Given the description of an element on the screen output the (x, y) to click on. 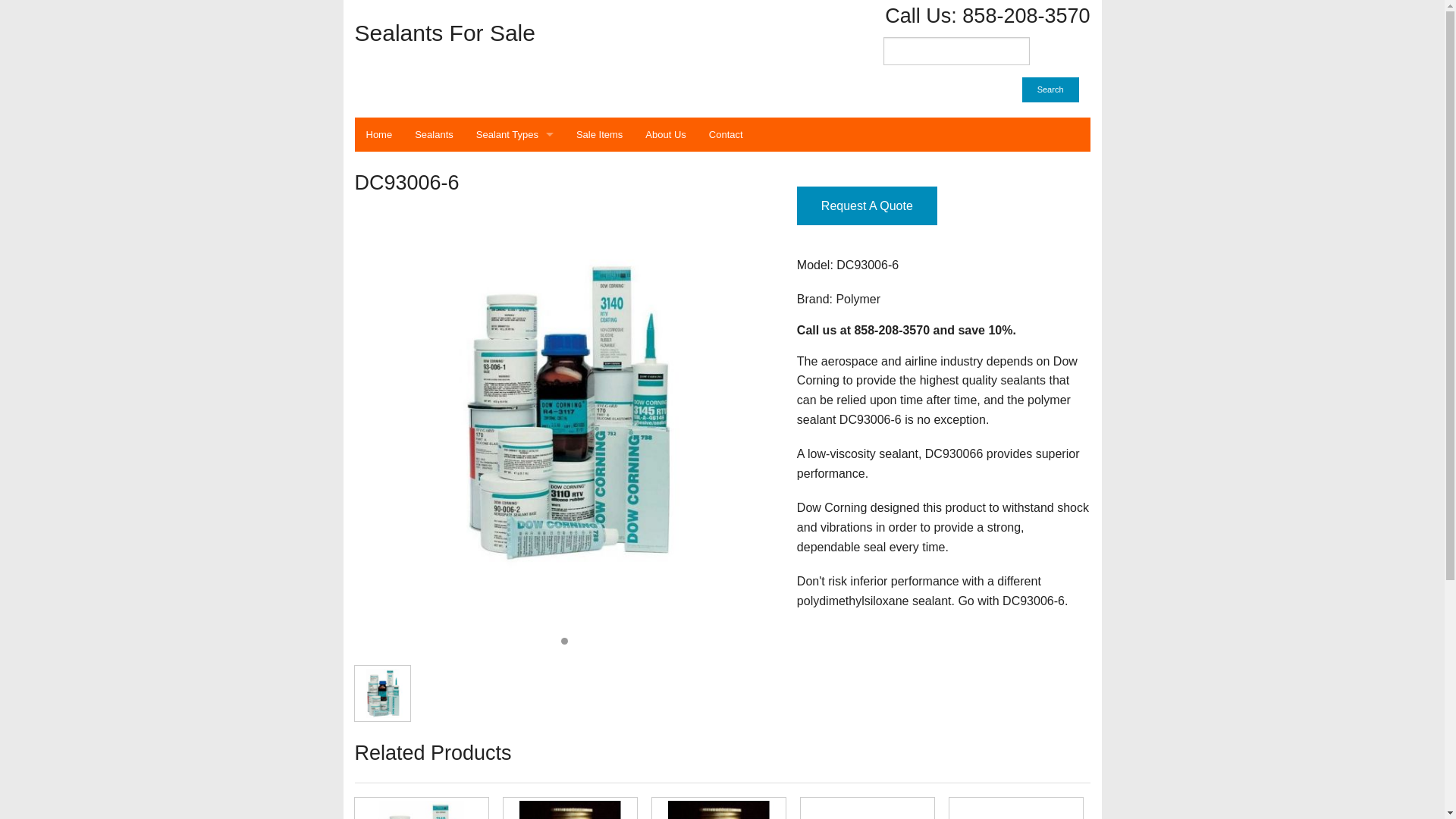
search (956, 50)
Search (1050, 89)
Sealant Types (514, 134)
About Us (665, 134)
Request A Quote (866, 205)
Sealants (433, 134)
Contact (725, 134)
Sealants For Sale (533, 33)
Home (379, 134)
Search (1050, 89)
Sale Items (598, 134)
